Given the description of an element on the screen output the (x, y) to click on. 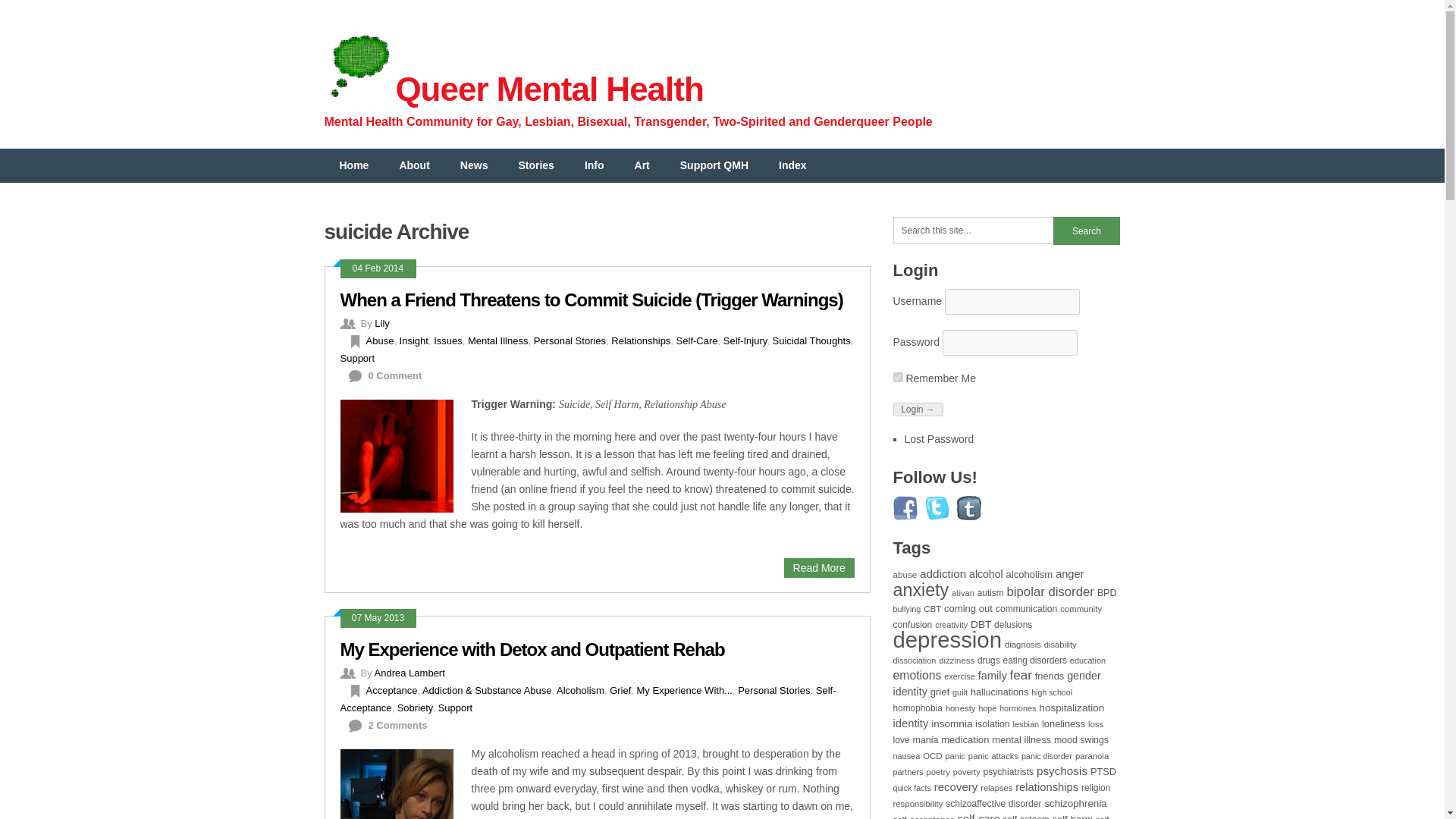
View all posts in Abuse (379, 340)
My Experience With... (684, 690)
Personal Stories (569, 340)
Issues (448, 340)
Insight (413, 340)
forever (897, 377)
Andrea Lambert (409, 672)
Support (356, 357)
Search (1085, 230)
My Experience with Detox and Outpatient Rehab (531, 649)
Info (594, 165)
Grief (620, 690)
View all posts in Mental Illness (497, 340)
Mental Illness (497, 340)
Personal Stories (773, 690)
